Given the description of an element on the screen output the (x, y) to click on. 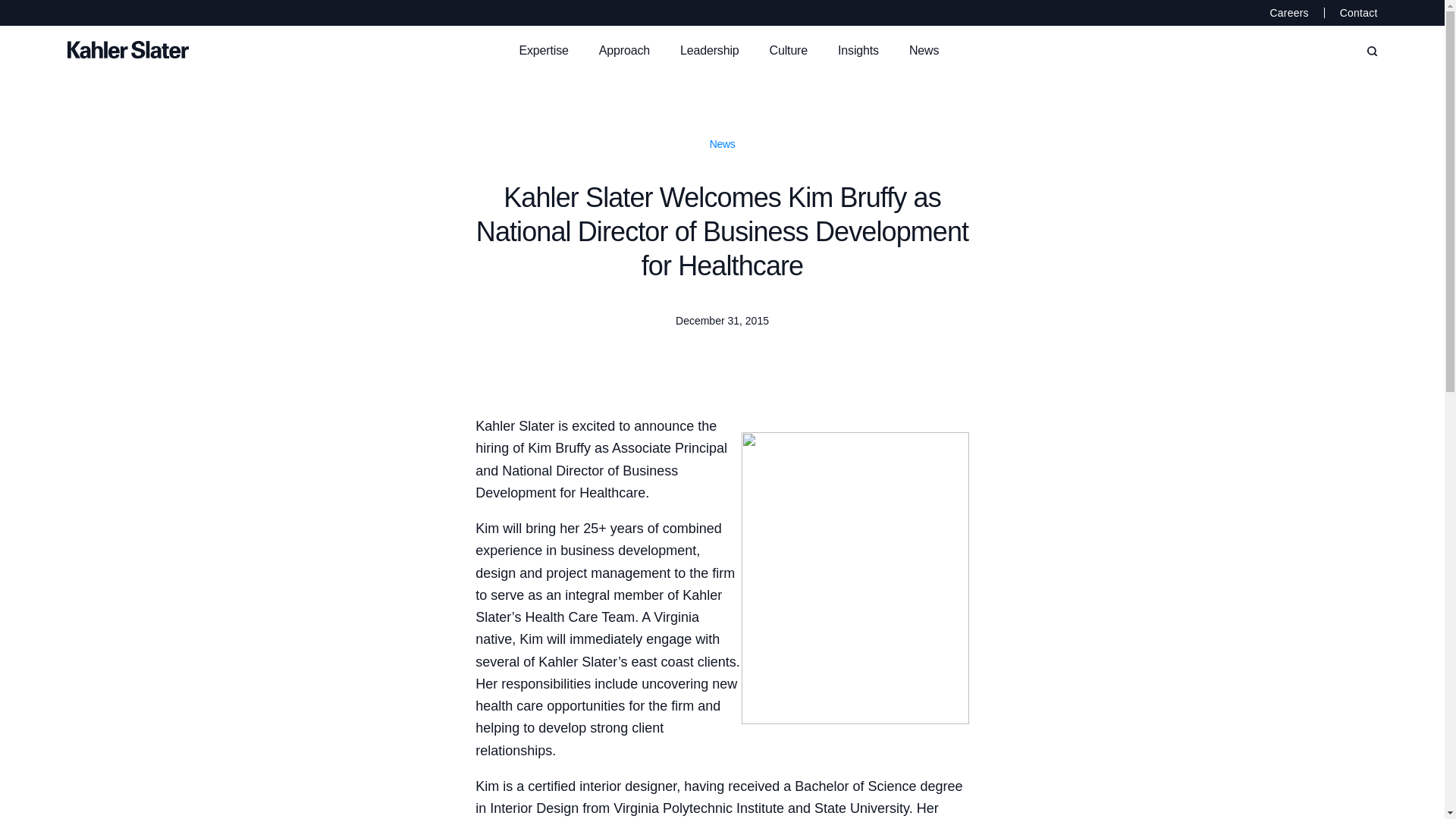
Insights (857, 50)
Contact (1350, 13)
Expertise (543, 50)
Careers (1296, 13)
Kahler Slater (284, 50)
Approach (624, 50)
Culture (788, 50)
Leadership (709, 50)
News (722, 143)
News (923, 50)
